Given the description of an element on the screen output the (x, y) to click on. 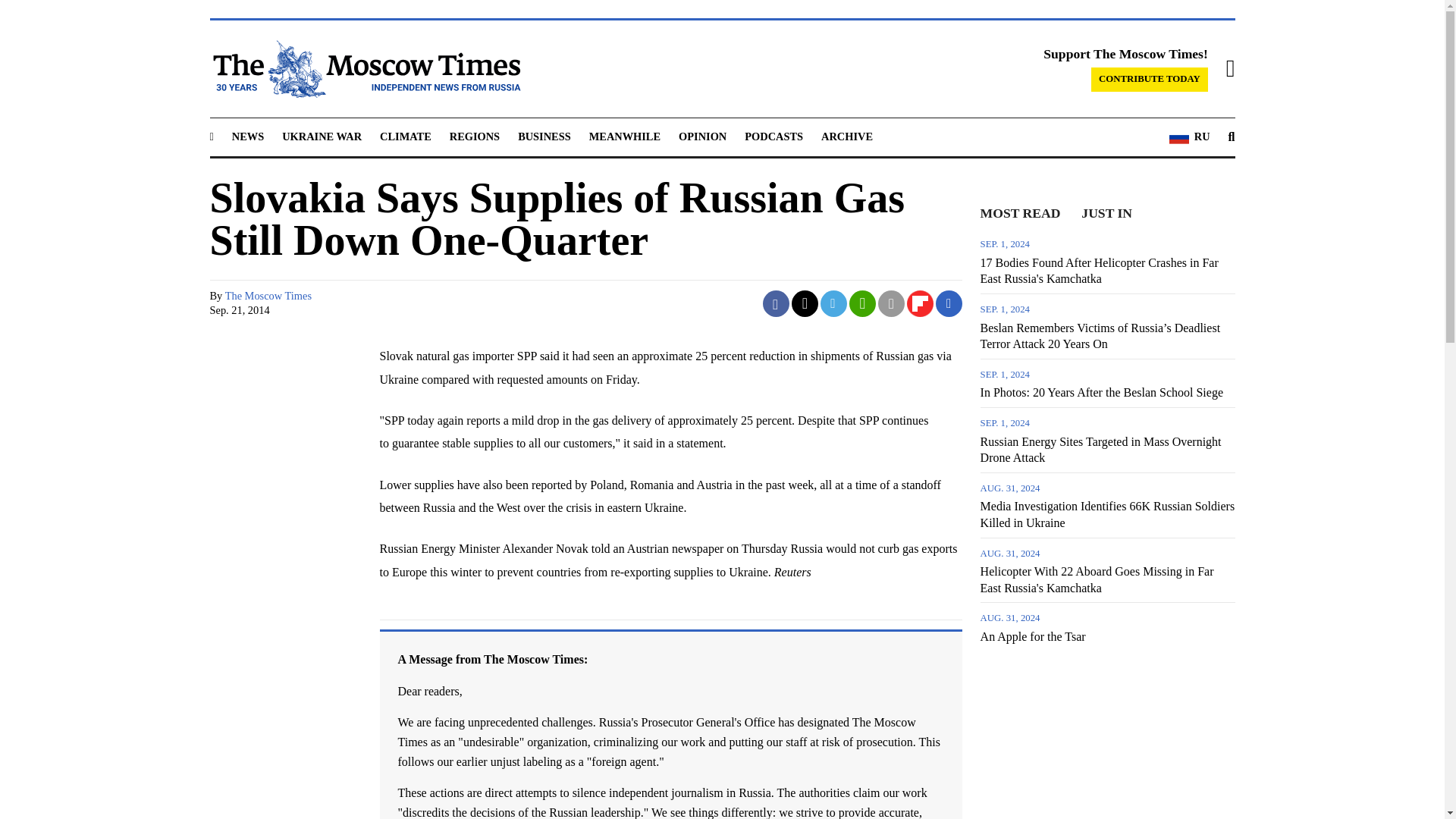
BUSINESS (544, 136)
REGIONS (474, 136)
NEWS (247, 136)
CLIMATE (405, 136)
Share on Twitter (805, 303)
Share on Facebook (775, 303)
CONTRIBUTE TODAY (1149, 79)
RU (1189, 137)
The Moscow Times (268, 295)
Share on Flipboard (920, 303)
